Given the description of an element on the screen output the (x, y) to click on. 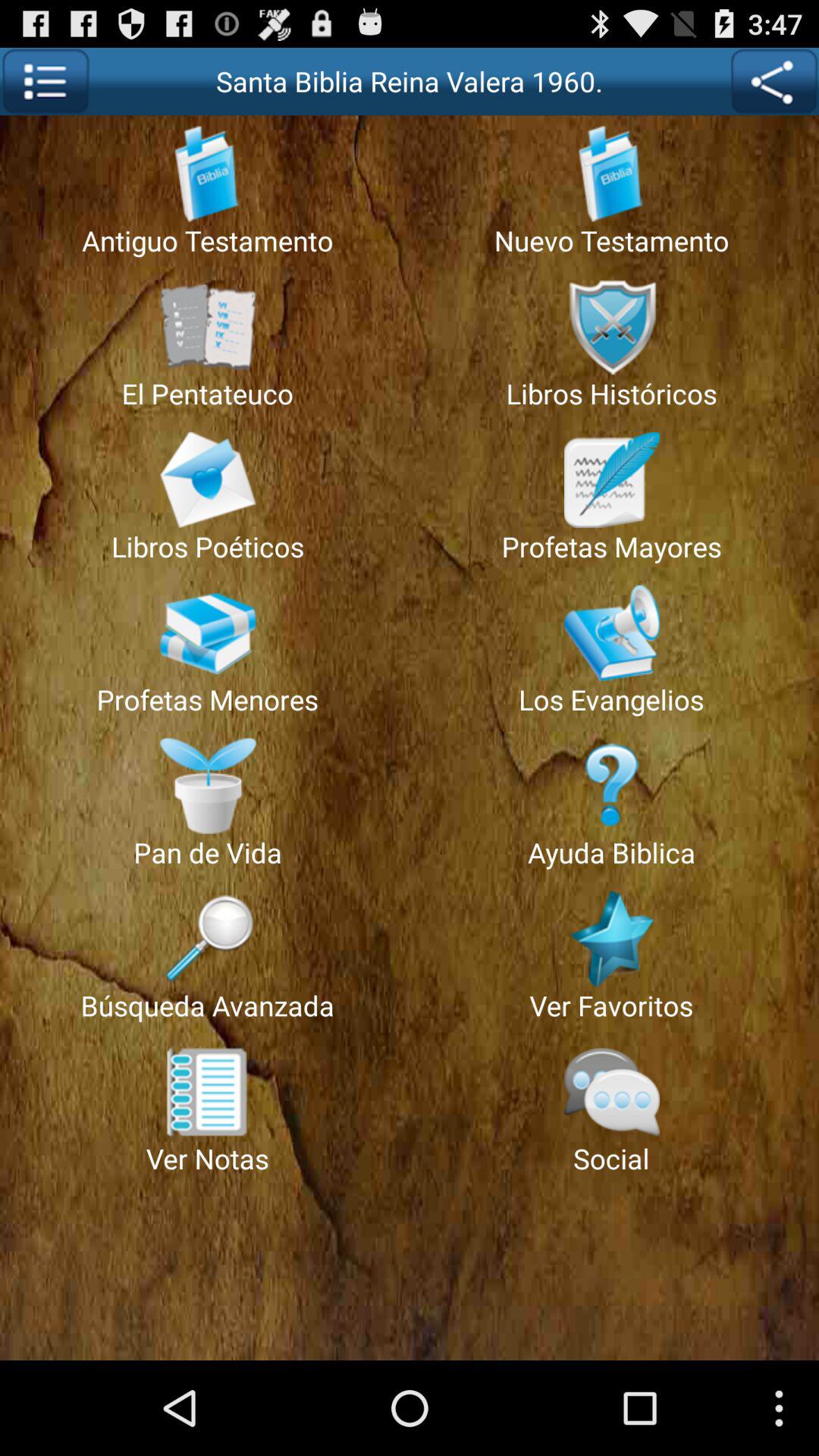
open menu selection (45, 81)
